Given the description of an element on the screen output the (x, y) to click on. 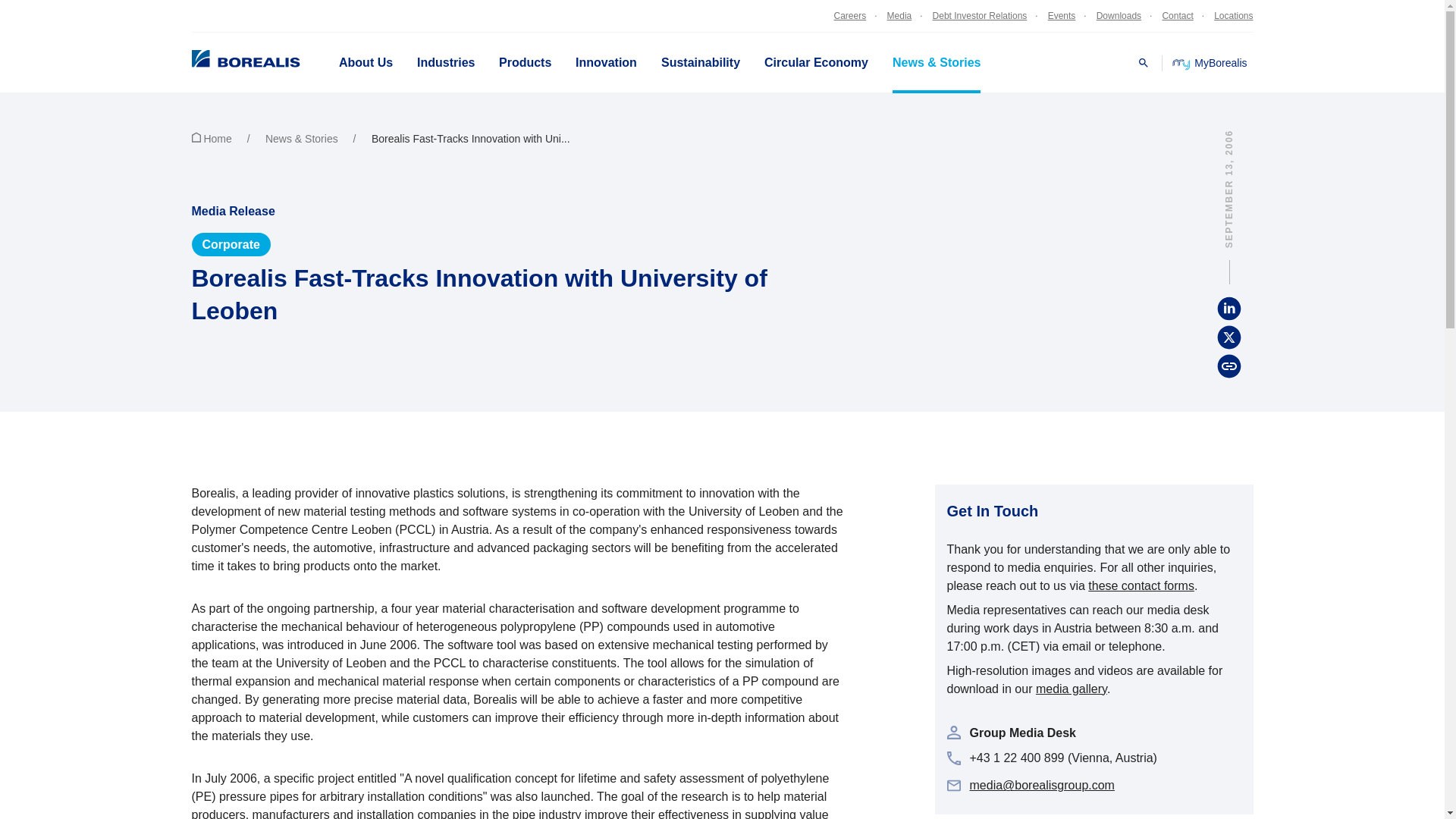
Innovation (606, 62)
Search (1143, 61)
Home (226, 138)
Search (1143, 61)
Media (897, 15)
Share this article on X (1227, 337)
Share this article on LinkedIn (1227, 308)
Corporate (229, 244)
Sustainability (700, 62)
these contact forms (1140, 585)
